Given the description of an element on the screen output the (x, y) to click on. 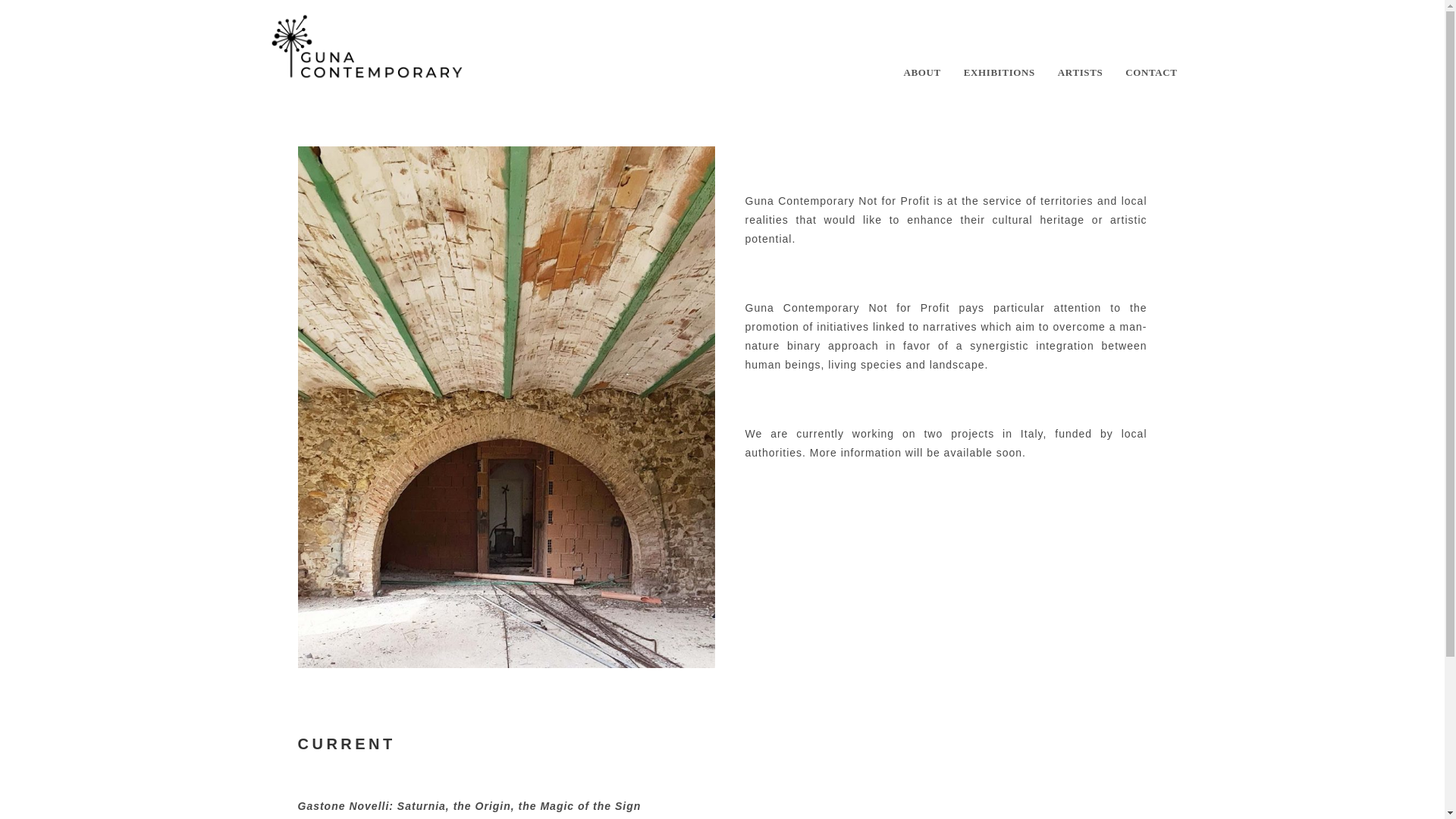
CONTACT (1150, 72)
EXHIBITIONS (999, 72)
ARTISTS (1079, 72)
ABOUT (922, 72)
